Given the description of an element on the screen output the (x, y) to click on. 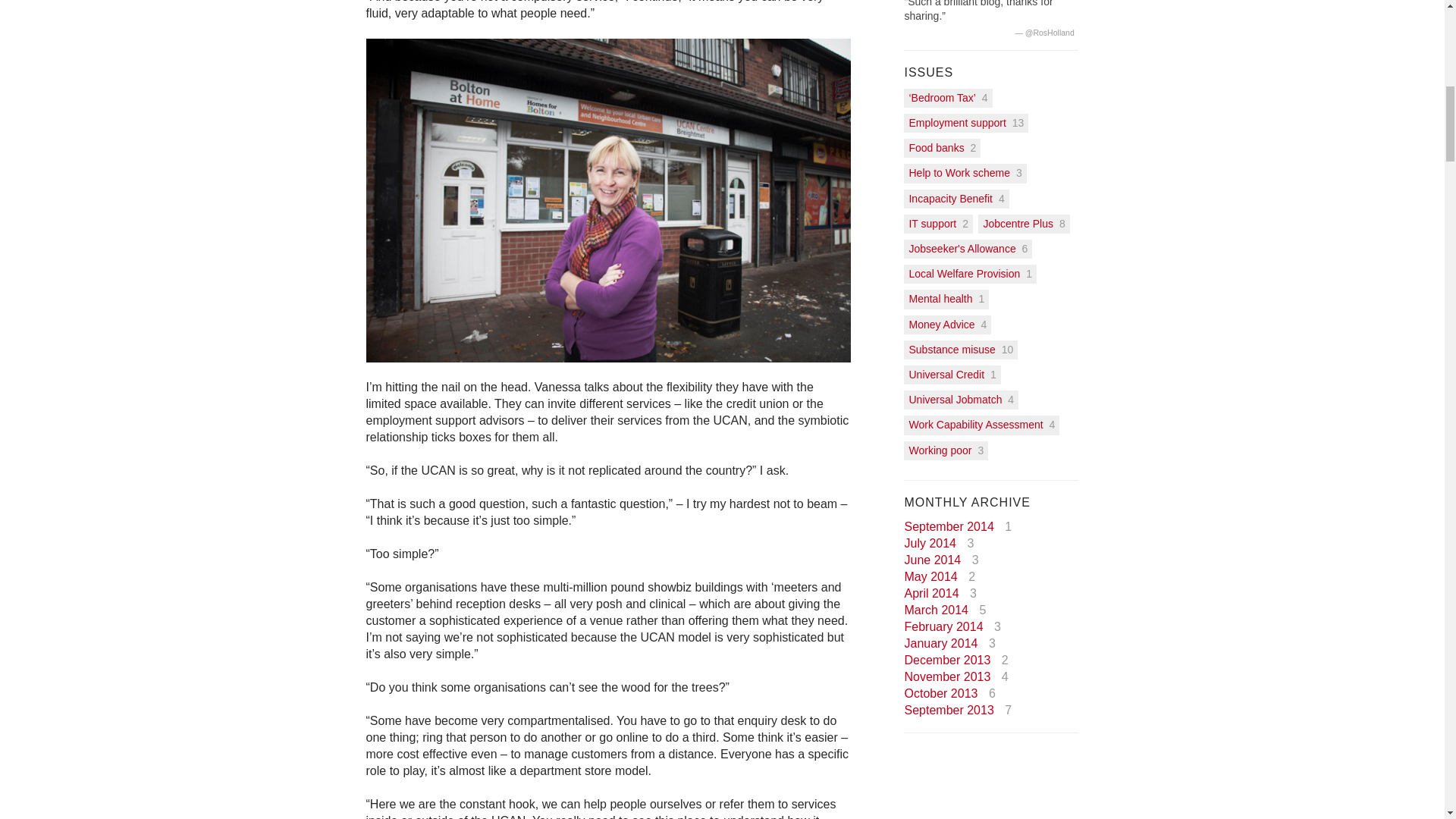
Money Advice (942, 323)
Jobcentre Plus (1019, 223)
Food banks (937, 147)
IT support (933, 223)
Help to Work scheme (960, 172)
Jobseeker's Allowance (962, 248)
Employment support (958, 122)
Local Welfare Provision (965, 273)
Mental health (941, 298)
Incapacity Benefit (951, 198)
Substance misuse (952, 349)
